Given the description of an element on the screen output the (x, y) to click on. 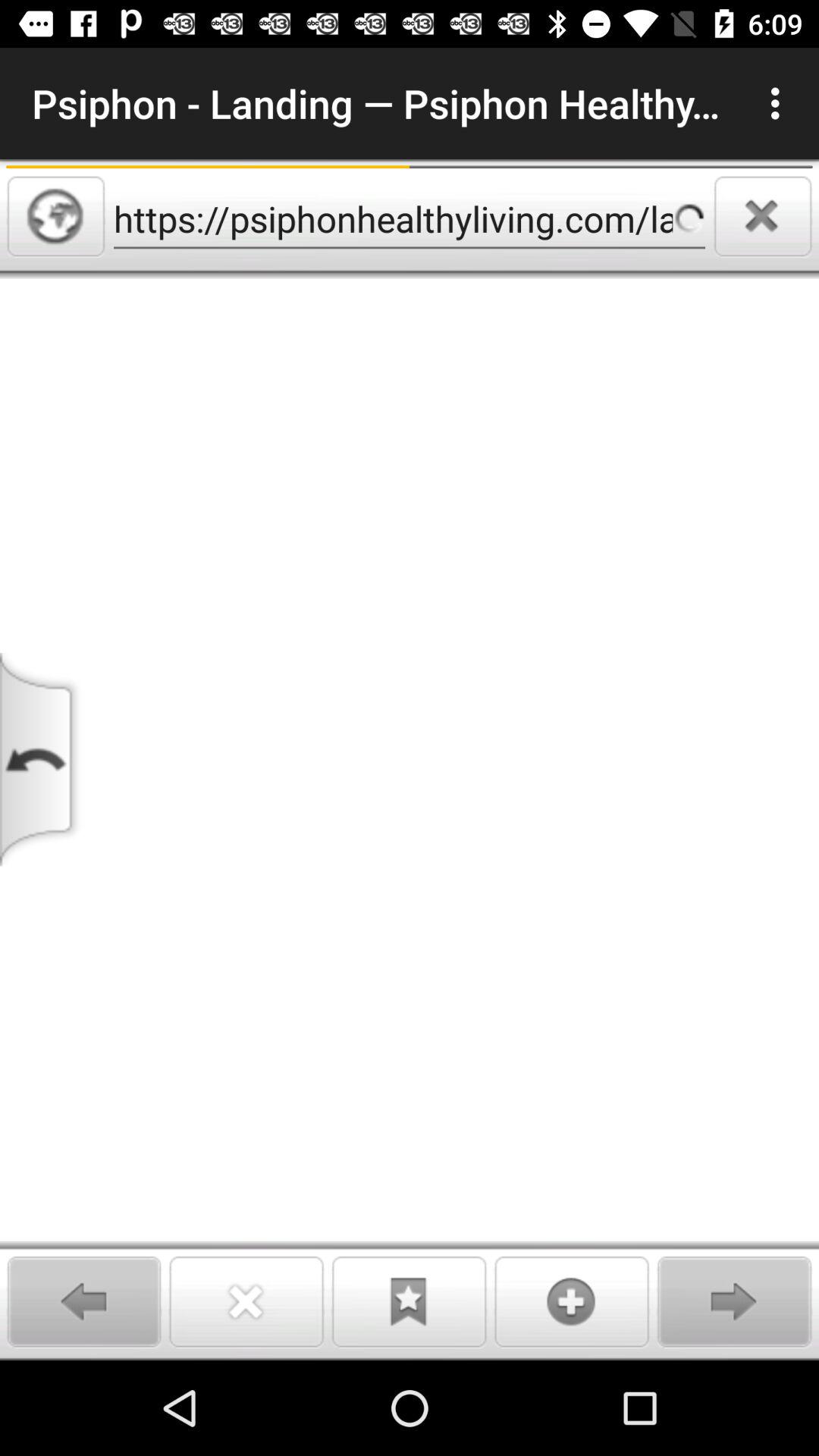
return previous page (41, 759)
